Given the description of an element on the screen output the (x, y) to click on. 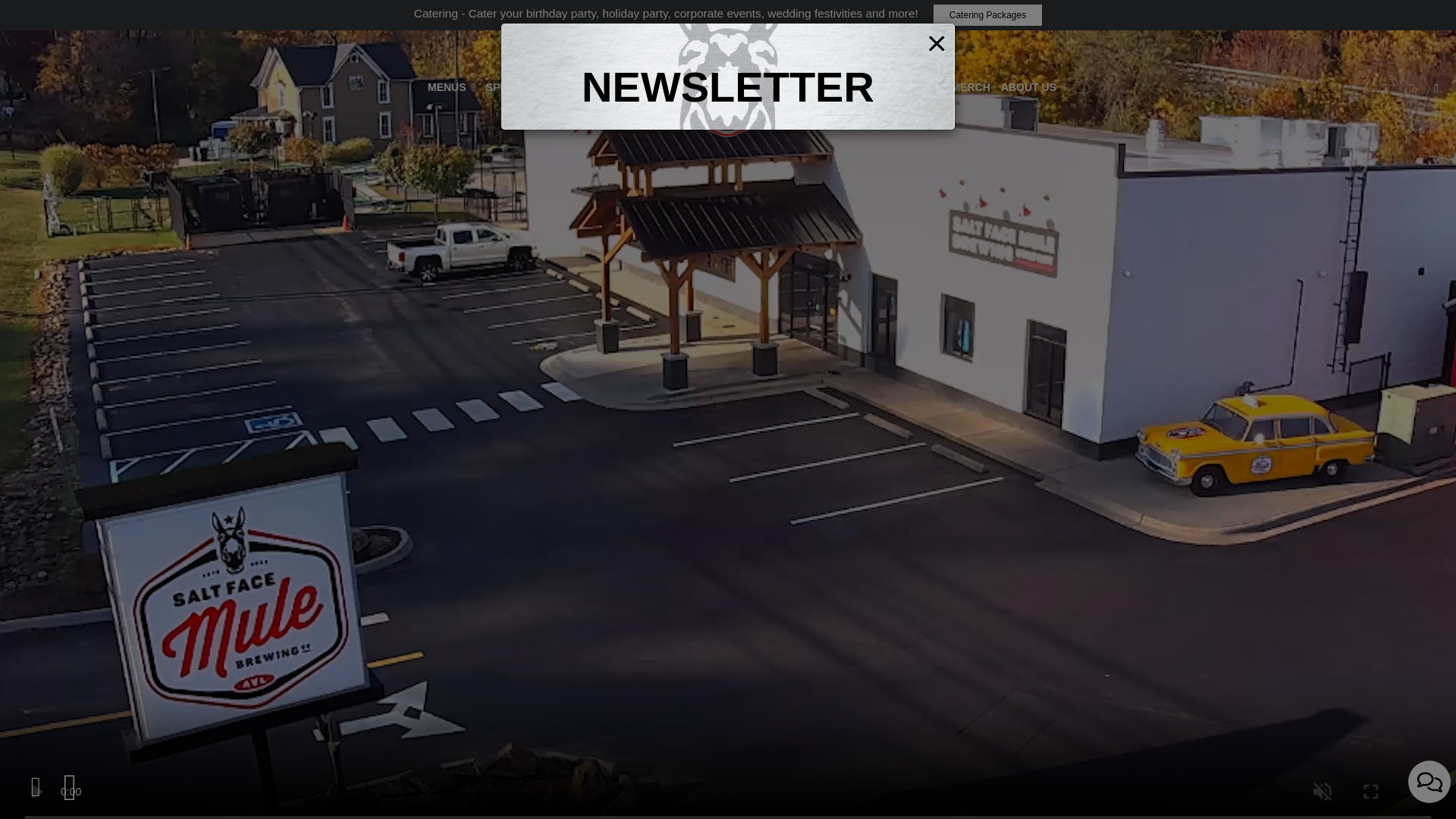
MERCH (970, 87)
ORDER (569, 87)
ABOUT US (1032, 87)
PRIVATE EVENTS (830, 87)
HAPPENINGS (633, 87)
MINI GOLF (912, 87)
SPECIALS (512, 87)
Catering Packages (987, 14)
MENUS (451, 87)
